Given the description of an element on the screen output the (x, y) to click on. 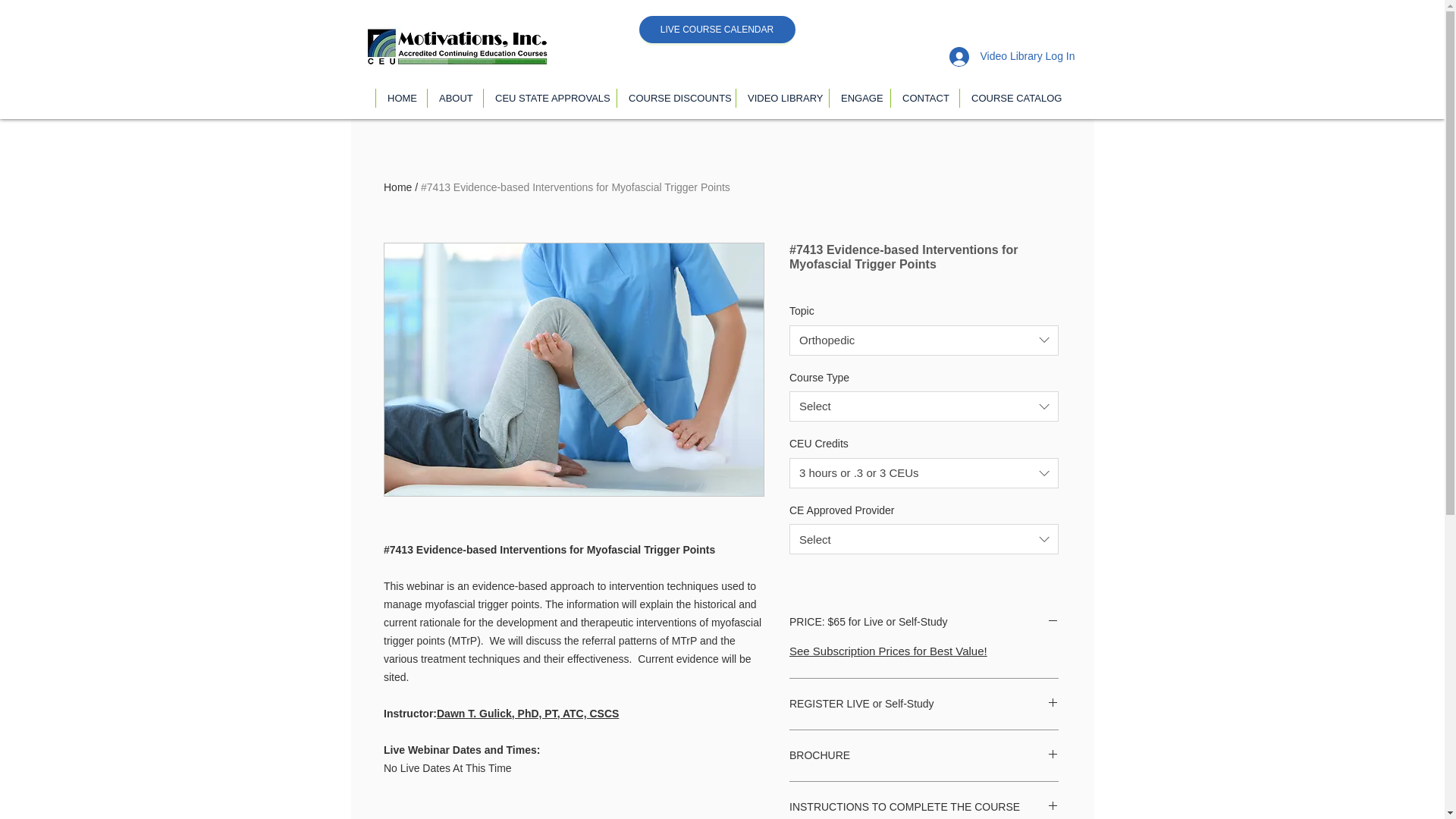
Video Library Log In (1011, 56)
ENGAGE (858, 97)
Select (923, 539)
Home (398, 186)
CONTACT (924, 97)
ABOUT (454, 97)
INSTRUCTIONS TO COMPLETE THE COURSE (923, 807)
3 hours or .3 or 3 CEUs (923, 472)
Dawn T. Gulick, PhD, PT, ATC, CSCS (527, 713)
COURSE DISCOUNTS (675, 97)
